Given the description of an element on the screen output the (x, y) to click on. 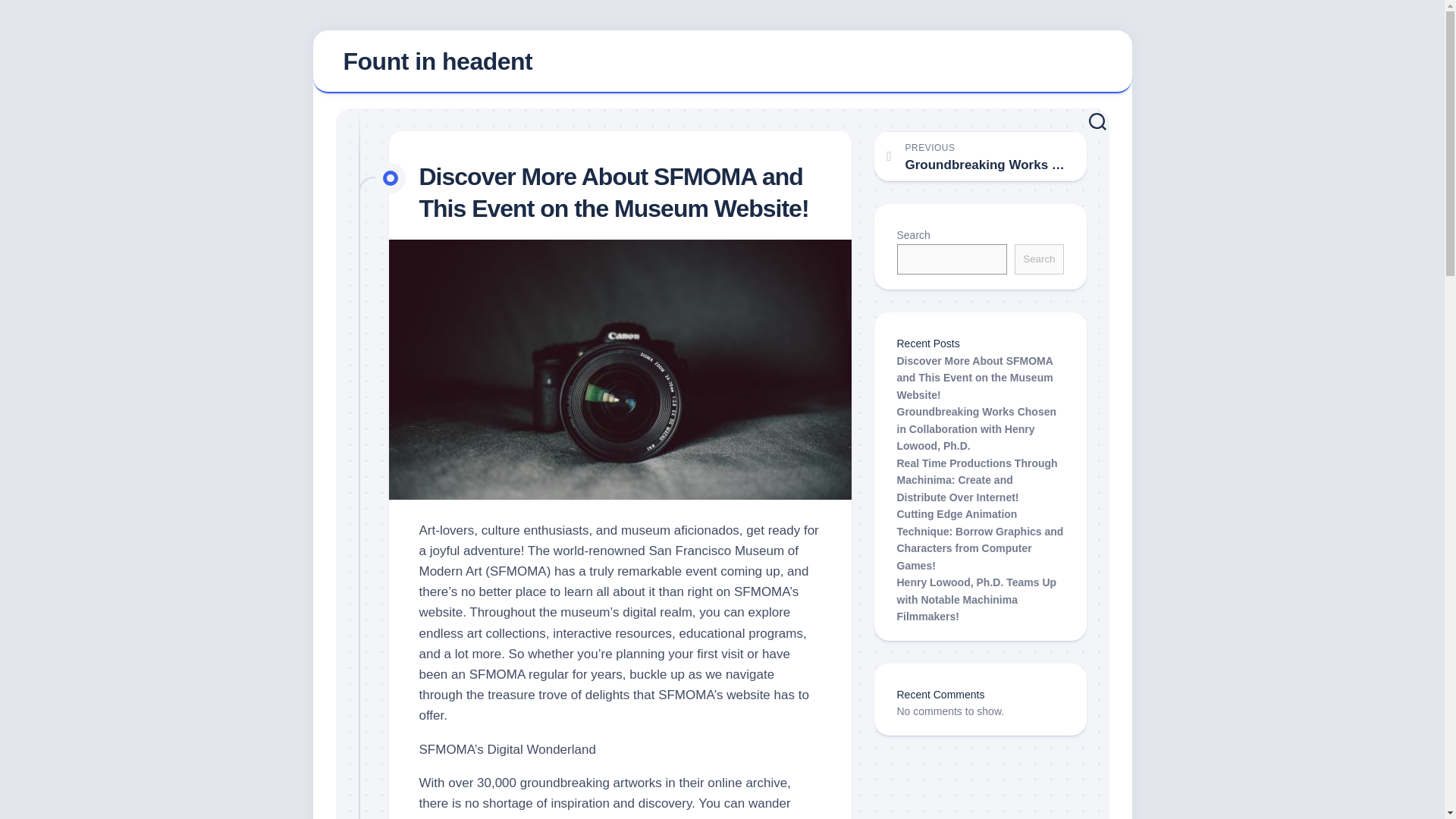
Search (1038, 259)
Fount in headent (437, 61)
Fount in headent (722, 62)
